Given the description of an element on the screen output the (x, y) to click on. 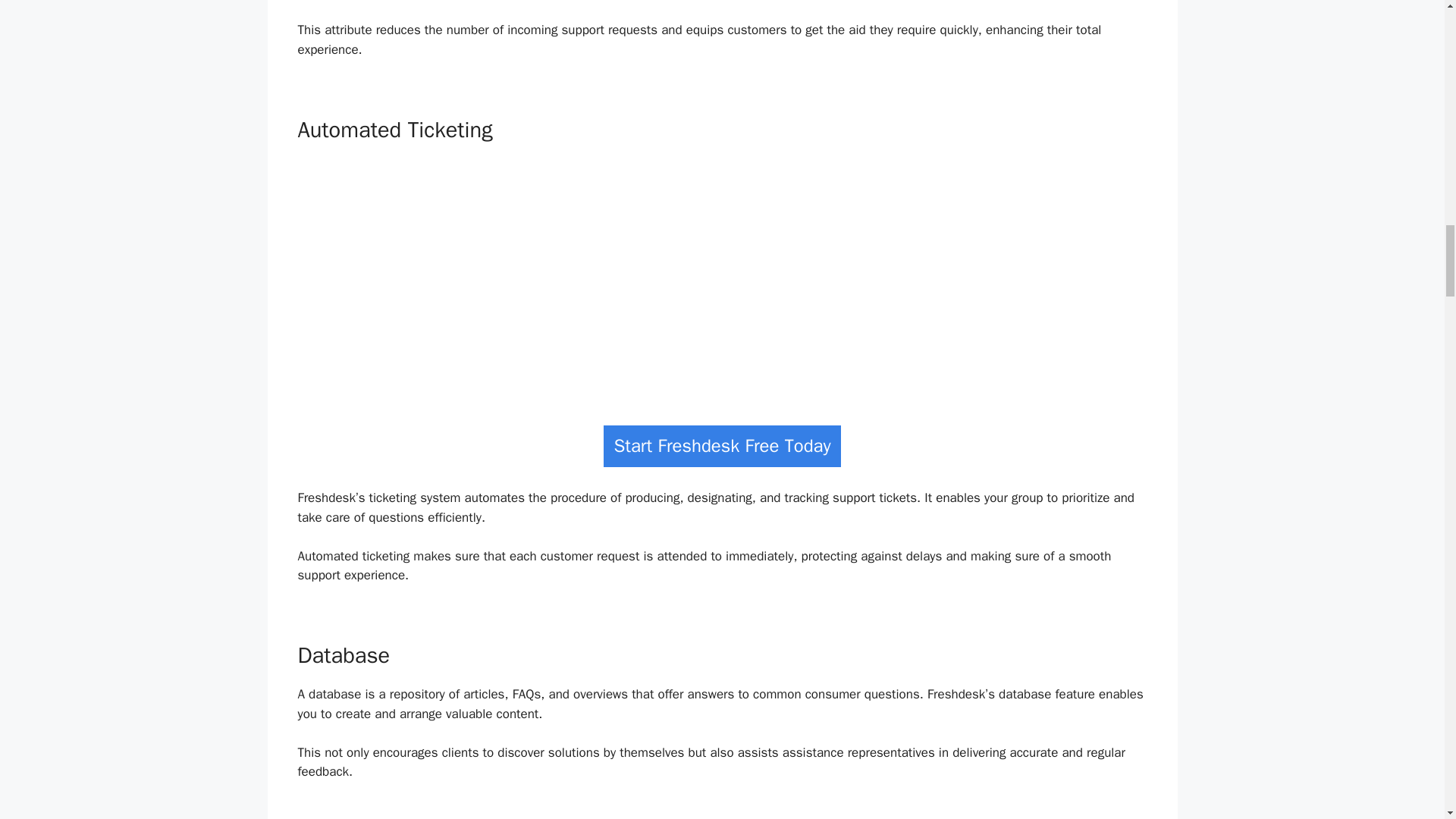
Start Freshdesk Free Today (722, 445)
YouTube video player (721, 278)
